Given the description of an element on the screen output the (x, y) to click on. 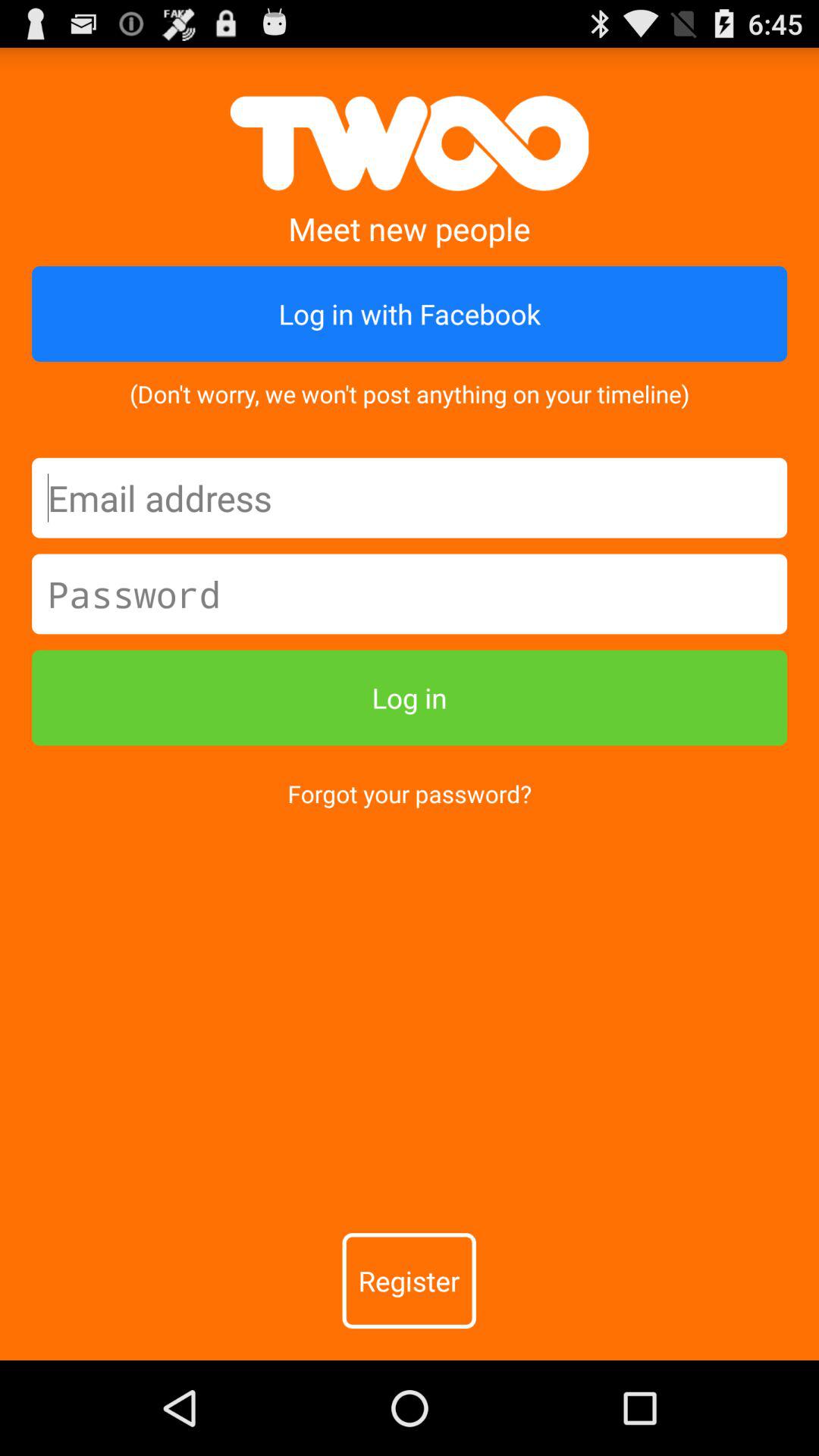
scroll to register item (409, 1280)
